Given the description of an element on the screen output the (x, y) to click on. 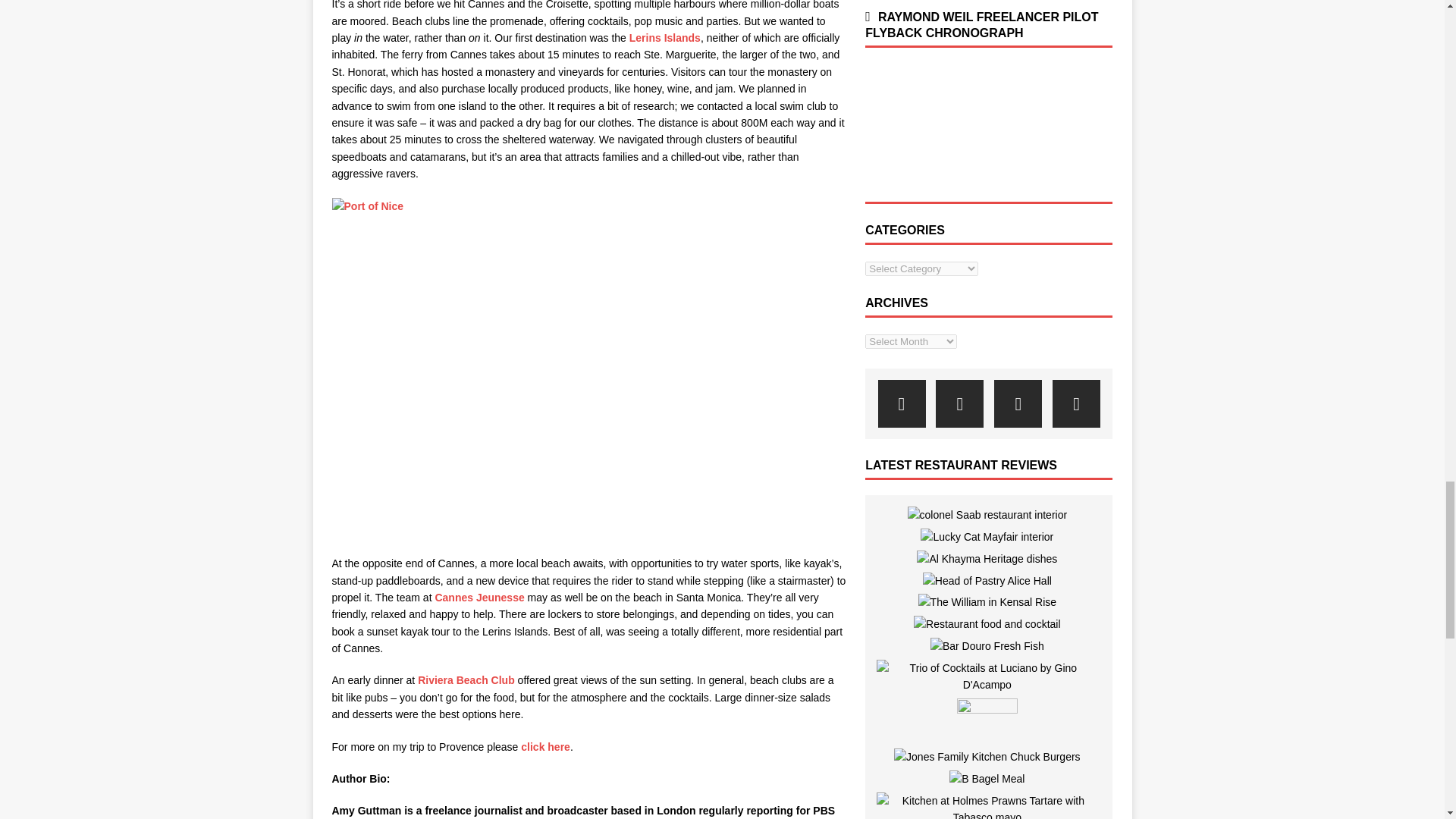
Cannes Jeunesse (478, 597)
click here (545, 746)
Riviera Beach Club (466, 680)
Lerins Islands (664, 37)
